Given the description of an element on the screen output the (x, y) to click on. 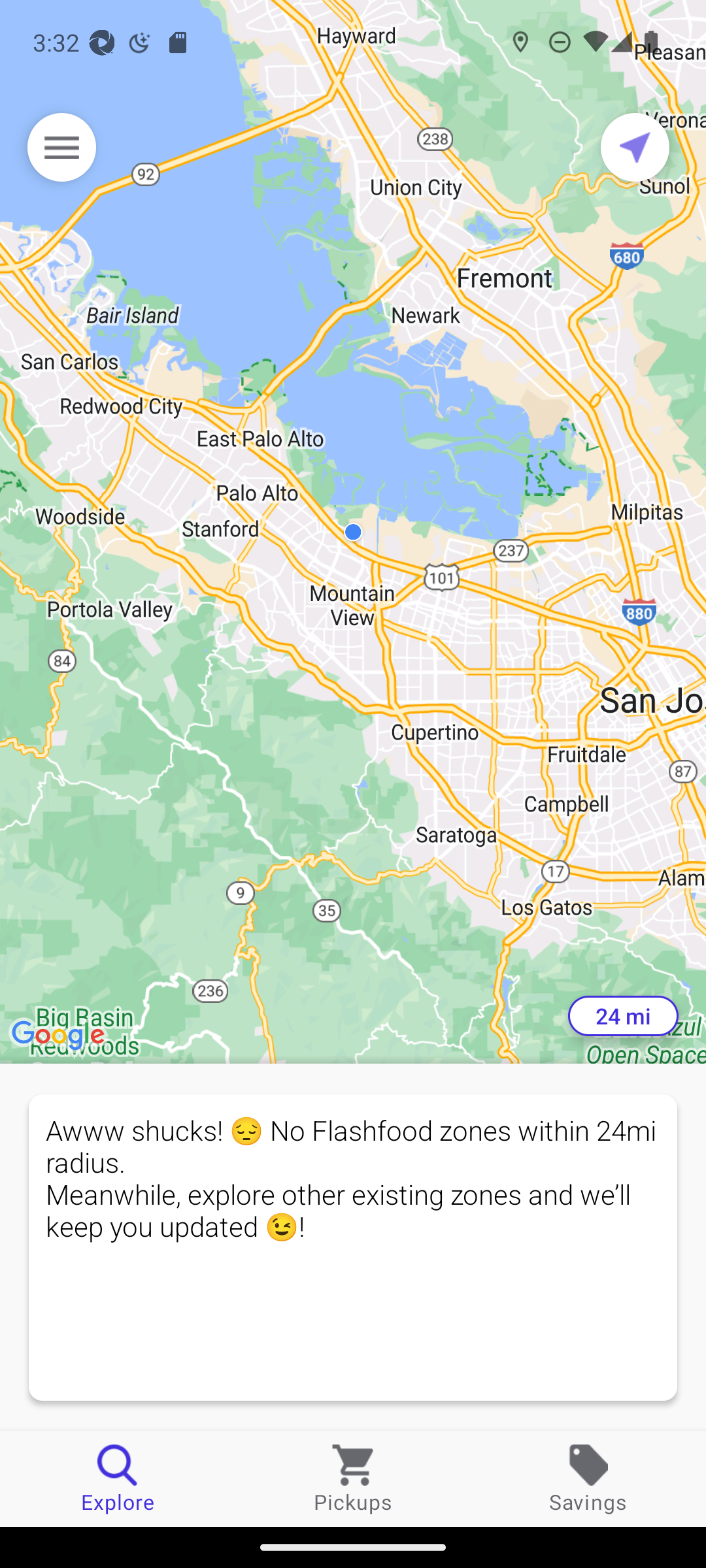
Menu (61, 146)
Current location (634, 146)
24 mi (623, 1015)
Pickups (352, 1478)
Savings (588, 1478)
